Given the description of an element on the screen output the (x, y) to click on. 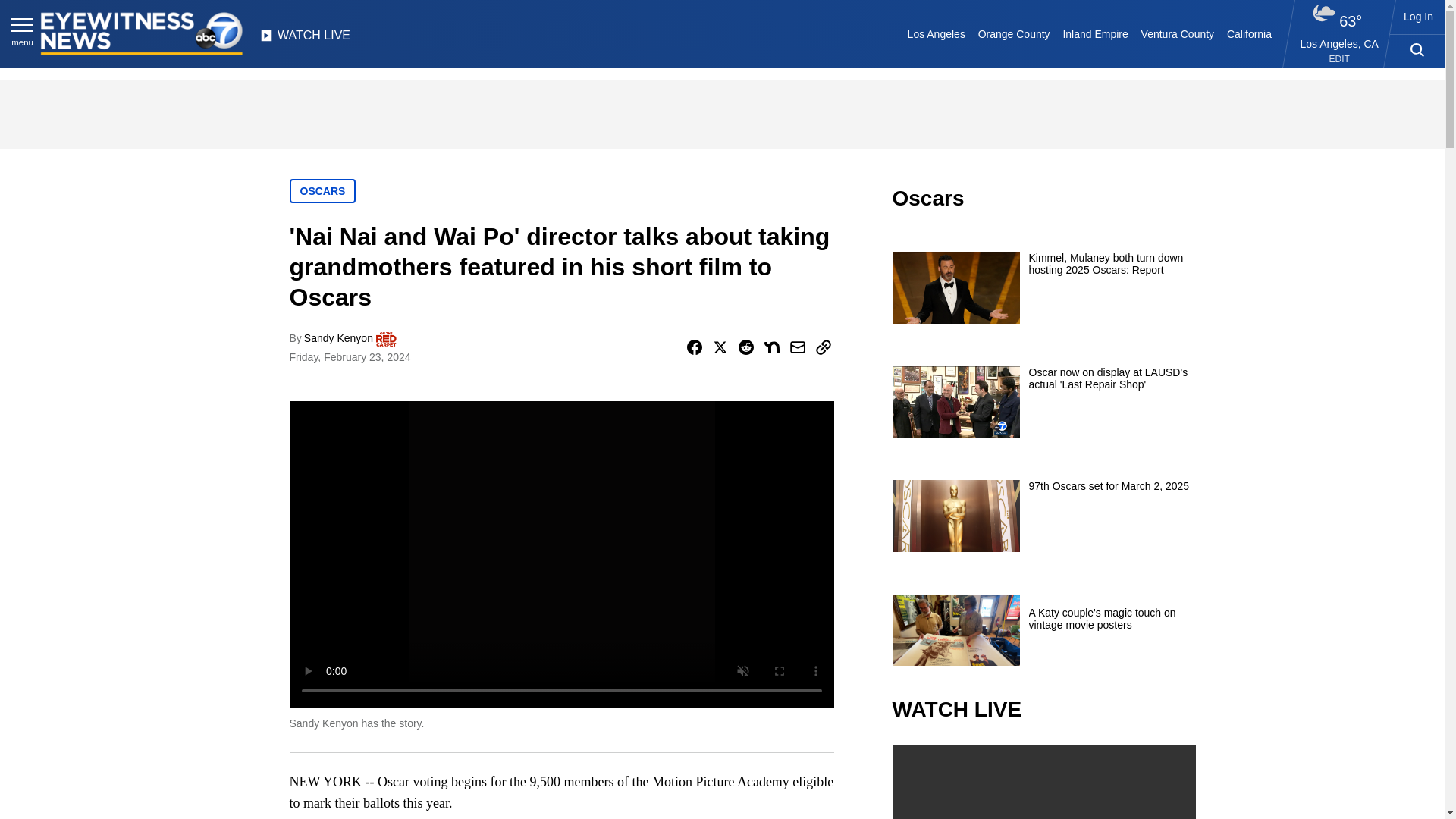
WATCH LIVE (305, 39)
Los Angeles, CA (1339, 43)
EDIT (1339, 59)
video.title (1043, 781)
Ventura County (1177, 33)
California (1249, 33)
Orange County (1014, 33)
Inland Empire (1095, 33)
Los Angeles (936, 33)
